Given the description of an element on the screen output the (x, y) to click on. 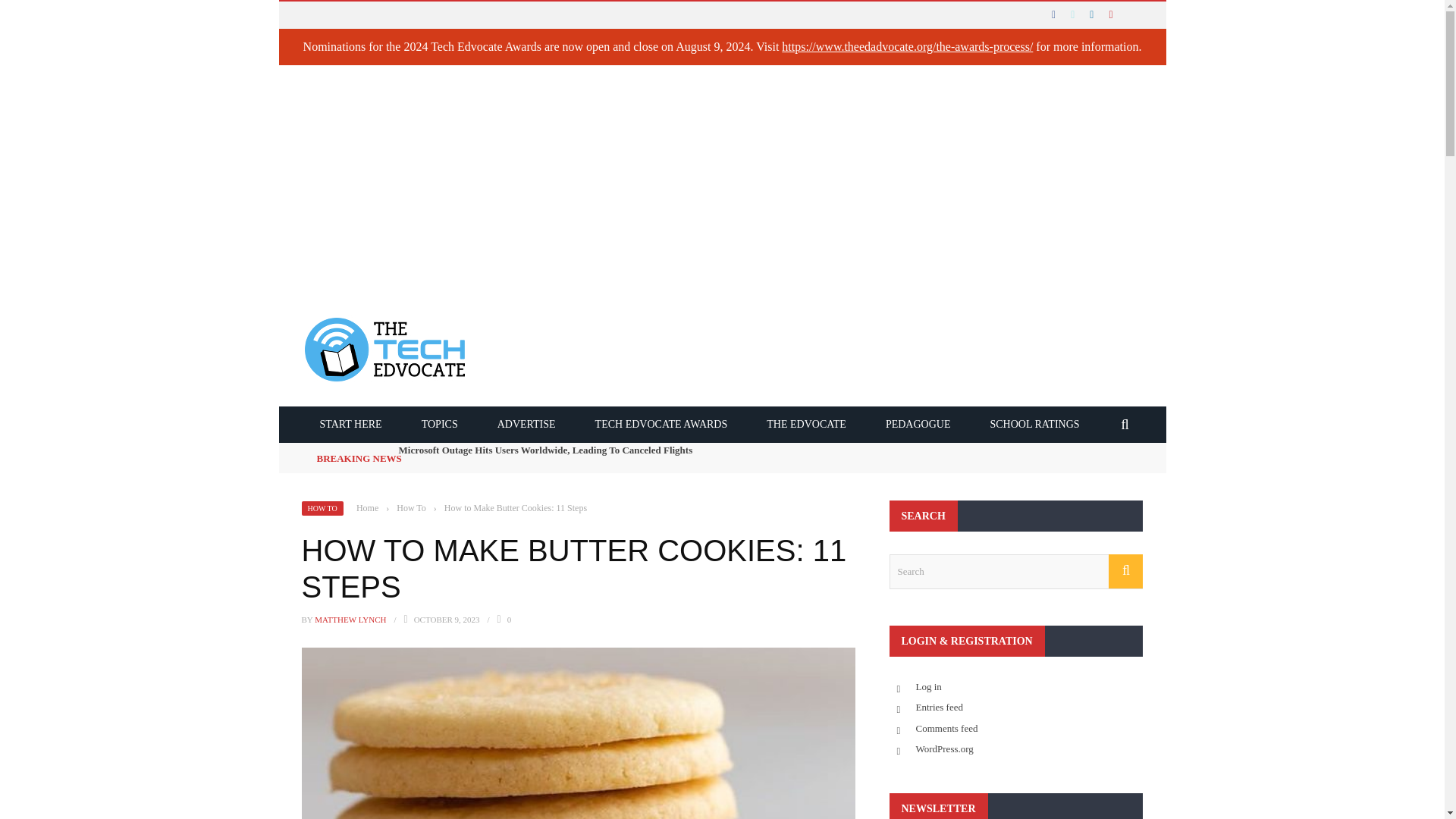
Search (1015, 571)
